Given the description of an element on the screen output the (x, y) to click on. 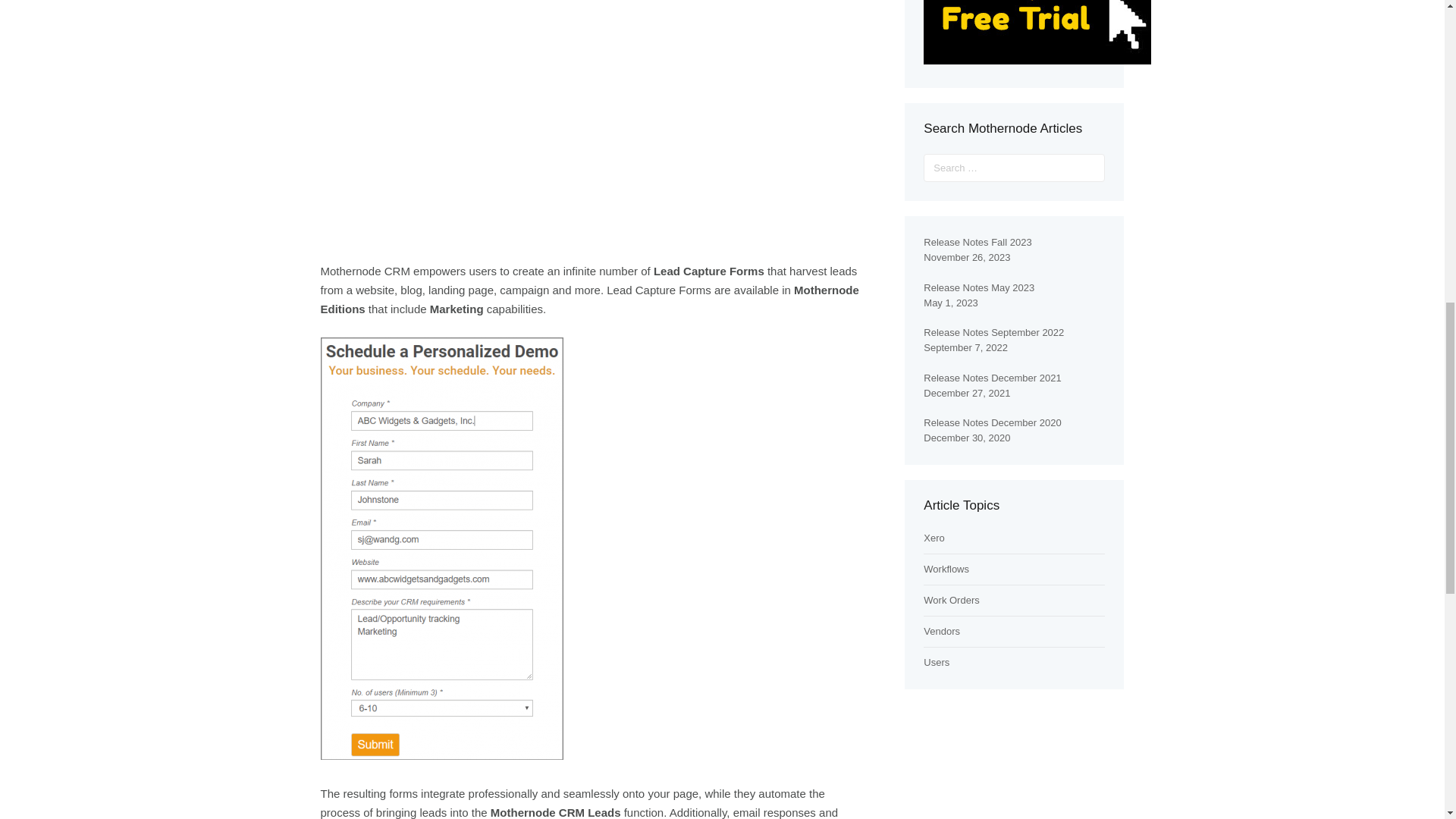
Workflows (946, 568)
Release Notes May 2023 (978, 287)
Release Notes September 2022 (993, 332)
Creating Mothernode CRM Lead Capture Forms (593, 118)
Release Notes December 2021 (992, 377)
Release Notes December 2020 (992, 422)
Release Notes Fall 2023 (976, 242)
Xero (933, 537)
